Given the description of an element on the screen output the (x, y) to click on. 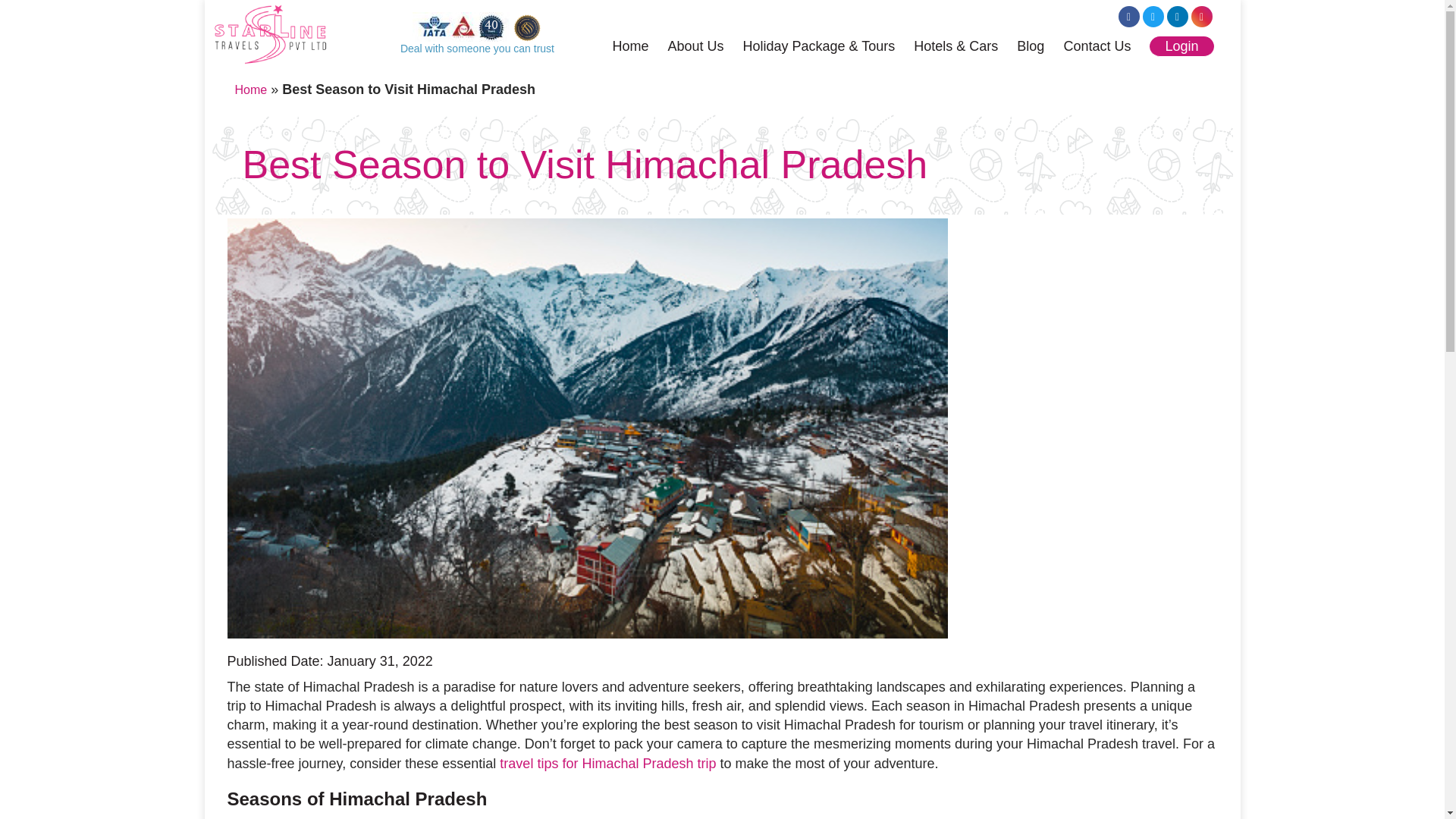
LinkedIn (1177, 16)
Blog (1029, 48)
About Us (694, 48)
Twitter (1152, 16)
Home (250, 89)
Contact Us (1096, 48)
Home (629, 48)
Facebook (1128, 16)
Instagram (1201, 16)
travel tips for Himachal Pradesh trip (607, 763)
Login (1181, 46)
